Given the description of an element on the screen output the (x, y) to click on. 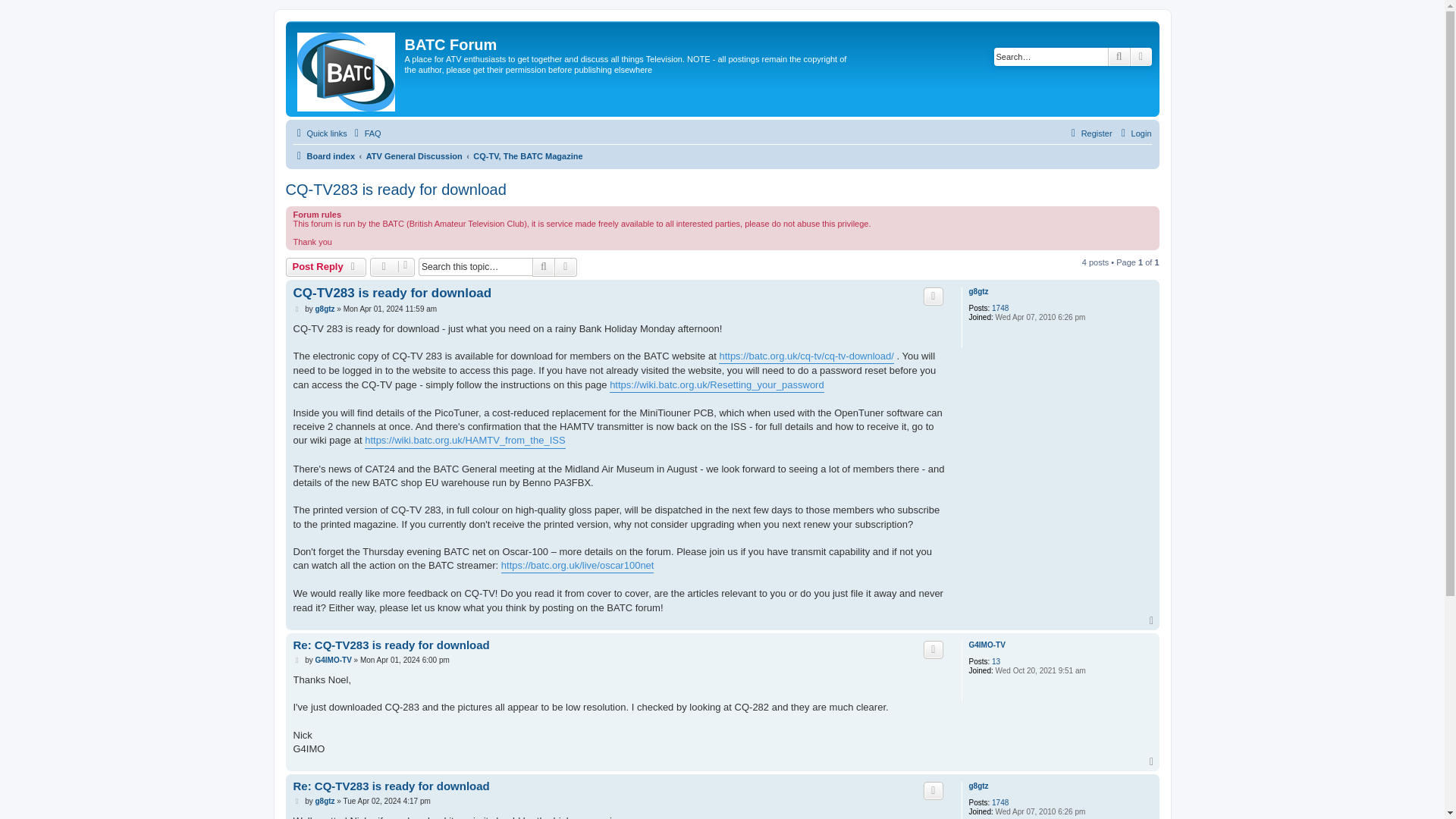
FAQ (365, 133)
Search (1119, 56)
G4IMO-TV (986, 645)
Quick links (319, 133)
Login (1134, 133)
g8gtz (978, 291)
CQ-TV283 is ready for download (395, 189)
Login (1134, 133)
Top (1151, 620)
13 (995, 661)
Search (543, 266)
Post (297, 308)
Advanced search (565, 266)
Quote (933, 649)
Post (297, 308)
